Given the description of an element on the screen output the (x, y) to click on. 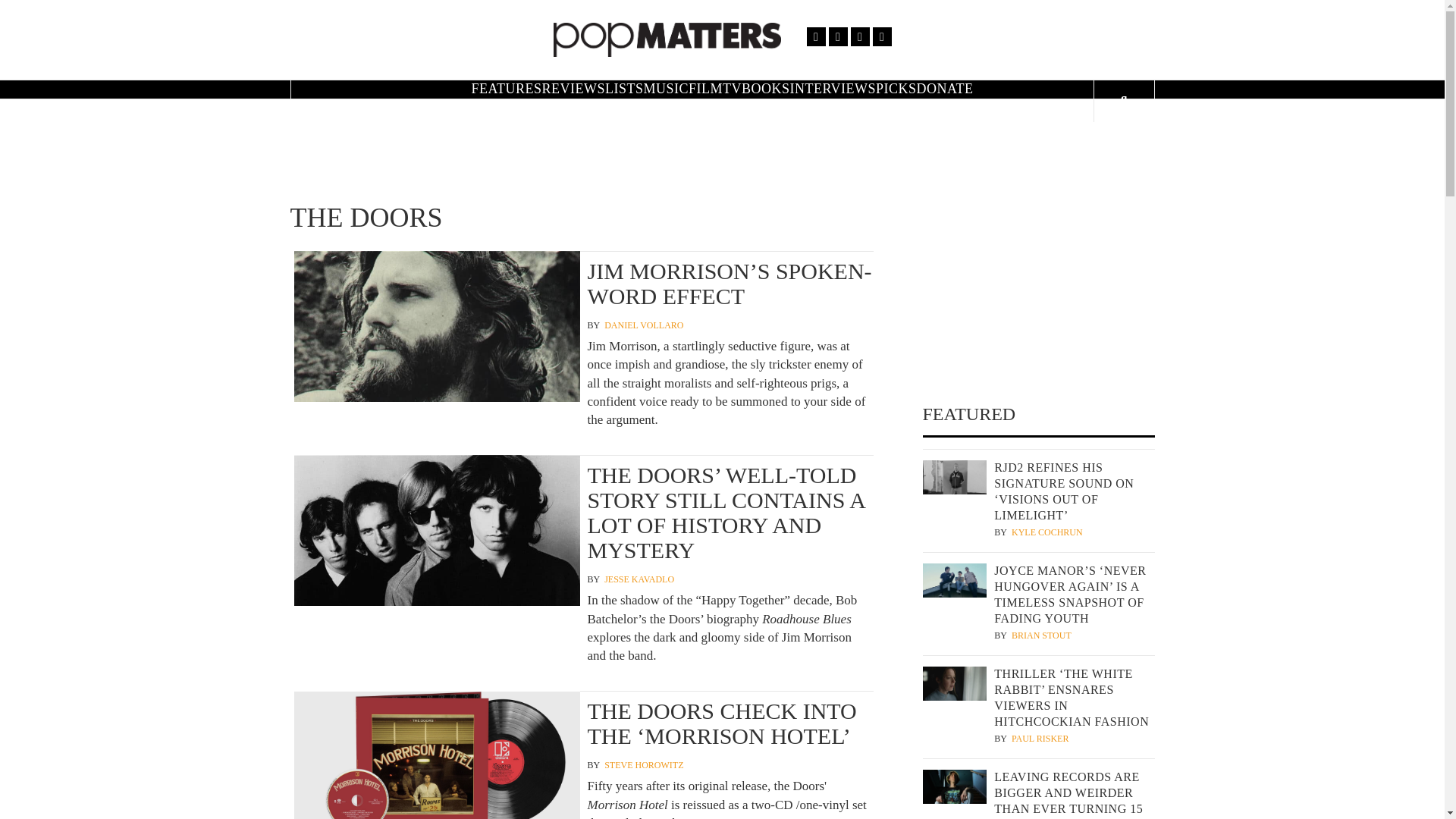
Kyle Cochrun (1047, 532)
JESSE KAVADLO (639, 579)
FILM (705, 88)
Paul Risker (1039, 738)
REVIEWS (573, 88)
DONATE (945, 88)
Facebook (815, 36)
FEATURES (505, 88)
Brian Stout (1041, 635)
Instagram (859, 36)
INTERVIEWS (833, 88)
Twitter (837, 36)
TV (731, 88)
Jesse Kavadlo (639, 579)
POPMATTERS (905, 45)
